Given the description of an element on the screen output the (x, y) to click on. 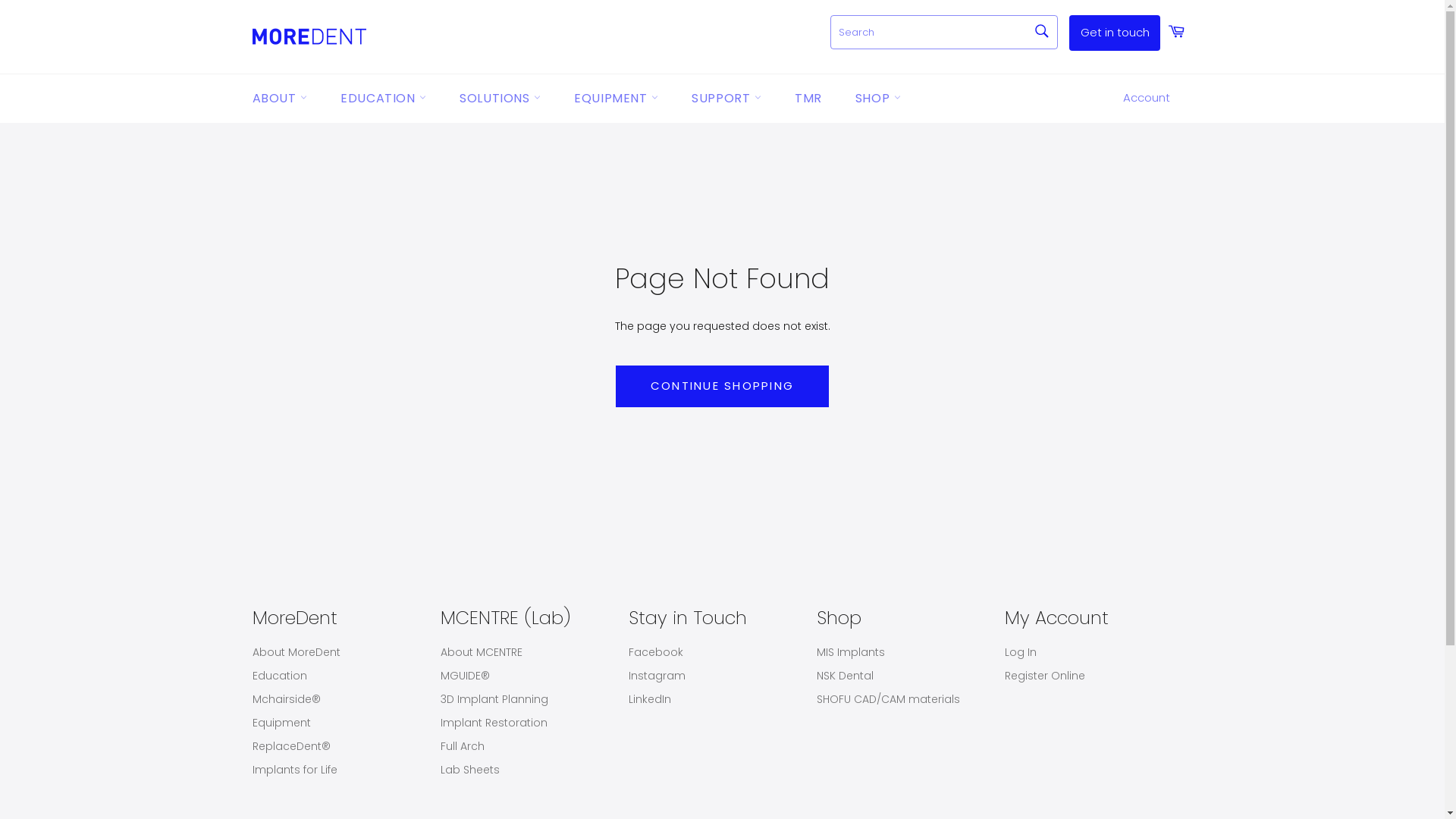
TMR Element type: text (808, 98)
NSK Dental Element type: text (843, 675)
ABOUT Element type: text (279, 98)
Cart Element type: text (1176, 32)
MIS Implants Element type: text (849, 651)
Register Online Element type: text (1044, 675)
Get in touch Element type: text (1114, 32)
EDUCATION Element type: text (383, 98)
Lab Sheets Element type: text (468, 769)
Equipment Element type: text (280, 722)
CONTINUE SHOPPING Element type: text (721, 386)
Log In Element type: text (1019, 651)
Account Element type: text (1145, 98)
SOLUTIONS Element type: text (499, 98)
SHOP Element type: text (878, 98)
Search Element type: text (1040, 31)
SUPPORT Element type: text (726, 98)
Implants for Life Element type: text (293, 769)
About MCENTRE Element type: text (480, 651)
Instagram Element type: text (655, 675)
Full Arch Element type: text (461, 745)
3D Implant Planning Element type: text (493, 698)
LinkedIn Element type: text (648, 698)
Education Element type: text (278, 675)
Implant Restoration Element type: text (492, 722)
SHOFU CAD/CAM materials Element type: text (887, 698)
EQUIPMENT Element type: text (615, 98)
About MoreDent Element type: text (295, 651)
Facebook Element type: text (654, 651)
